Given the description of an element on the screen output the (x, y) to click on. 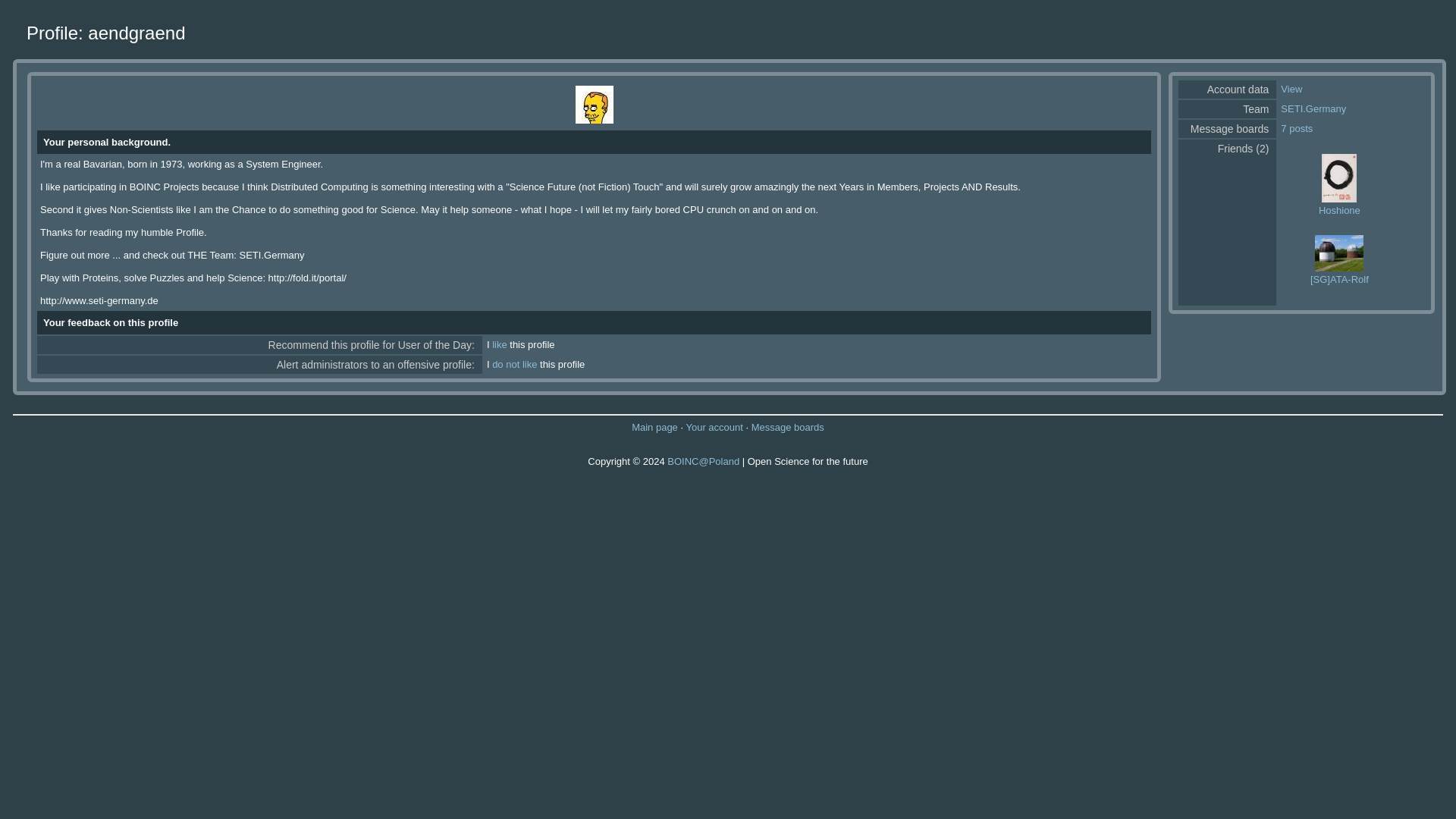
SETI.Germany (1313, 108)
View (1291, 89)
do not like (514, 364)
Message boards (787, 427)
like (499, 344)
Main page (654, 427)
7 posts (1297, 128)
Your account (713, 427)
Hoshione (1339, 210)
